Given the description of an element on the screen output the (x, y) to click on. 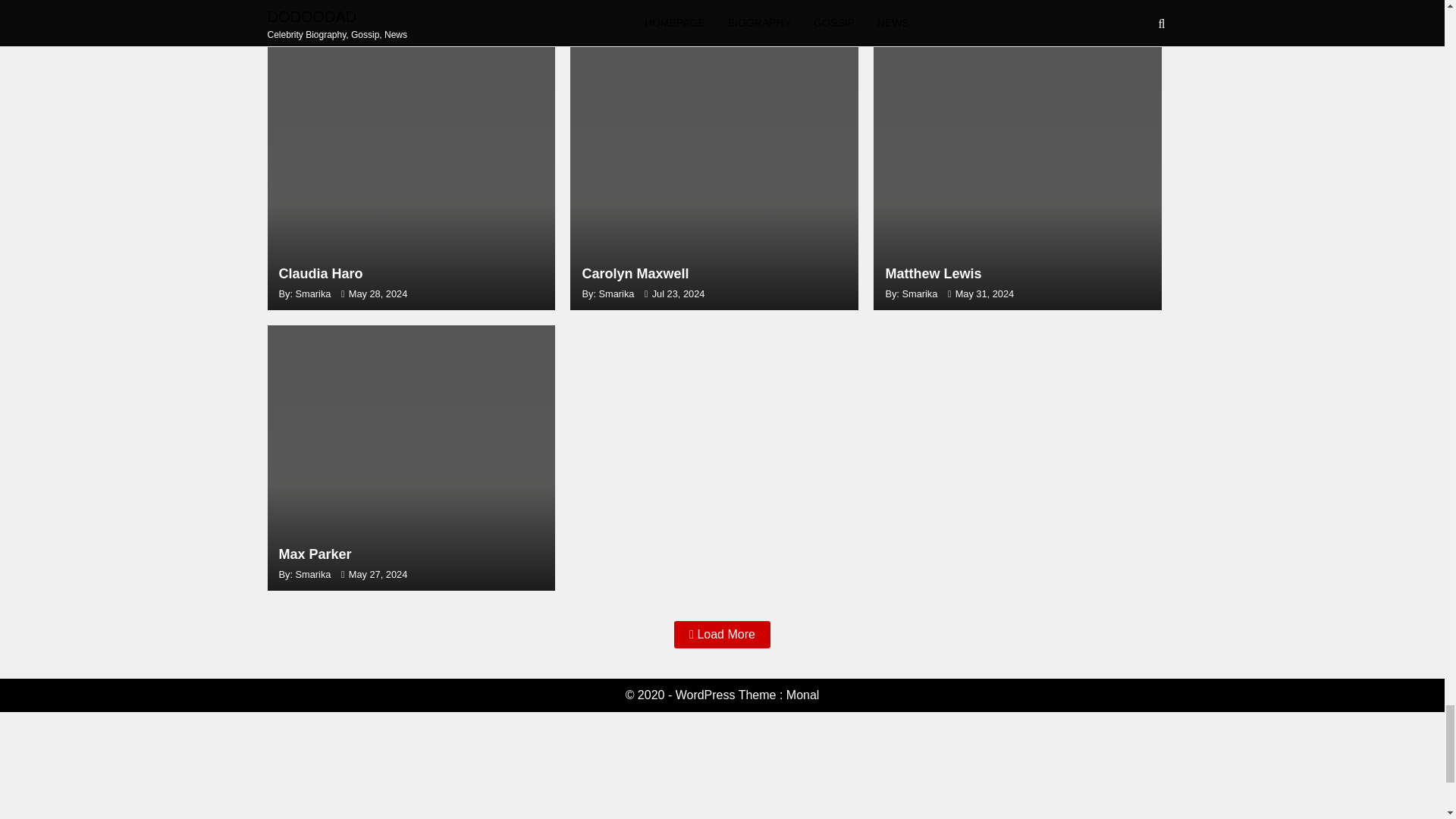
Load More (410, 177)
